Given the description of an element on the screen output the (x, y) to click on. 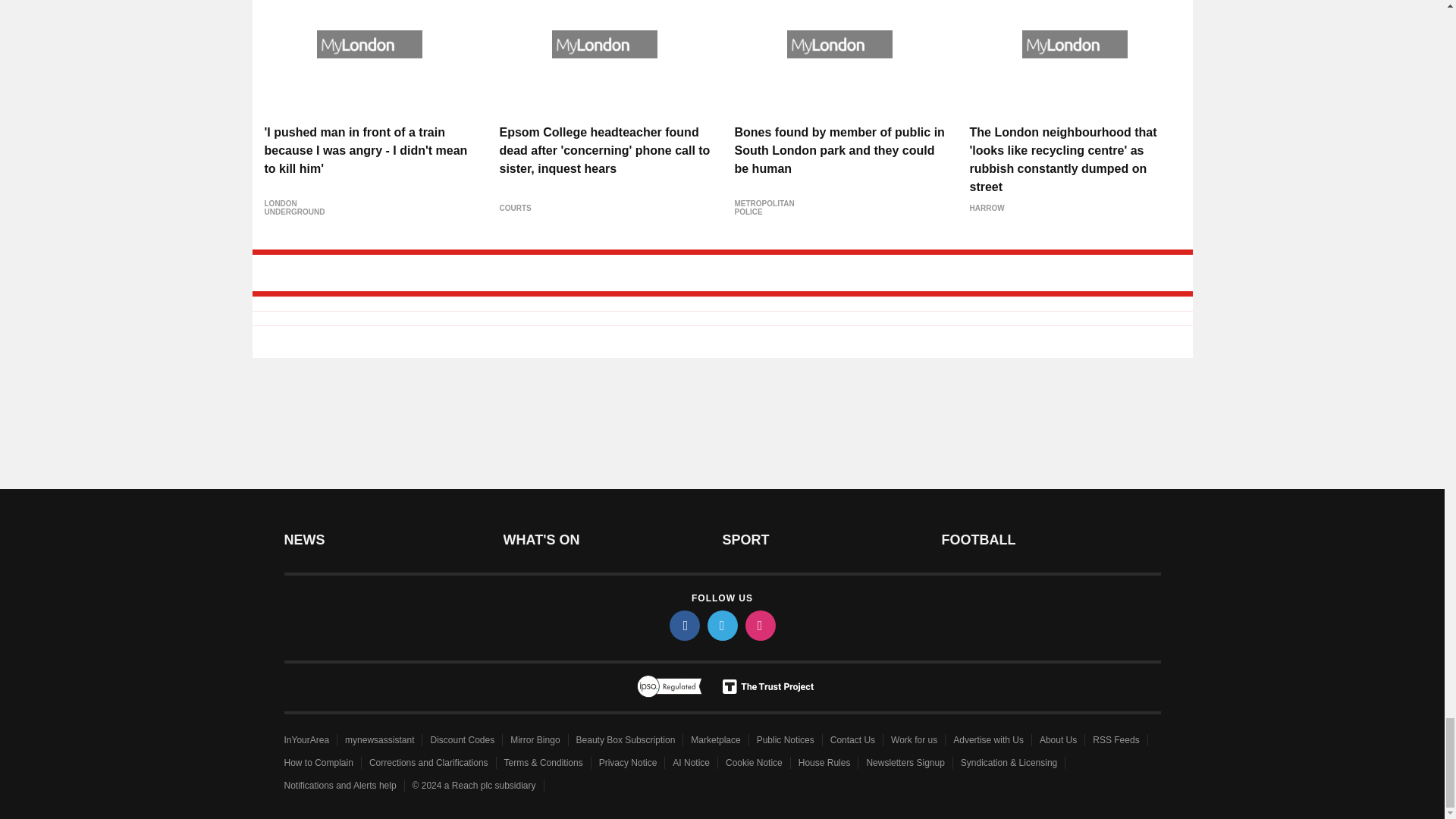
twitter (721, 625)
instagram (759, 625)
facebook (683, 625)
